Given the description of an element on the screen output the (x, y) to click on. 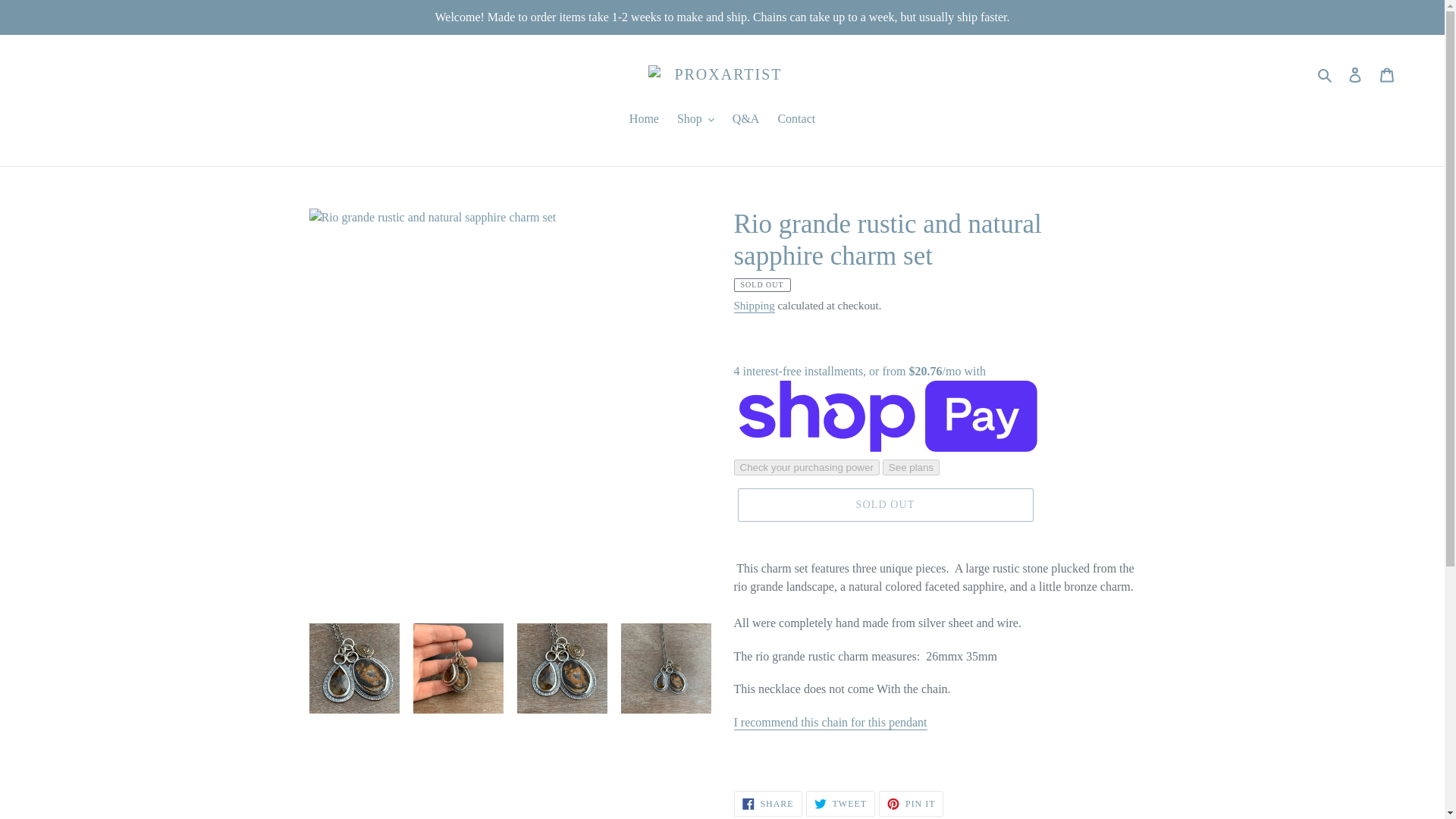
Shop (695, 119)
Contact (796, 119)
Log in (1355, 73)
chain  (830, 722)
Search (1326, 74)
I recommend this chain for this pendant (830, 722)
Cart (1387, 73)
Home (643, 119)
SOLD OUT (884, 504)
Shipping (753, 305)
